Given the description of an element on the screen output the (x, y) to click on. 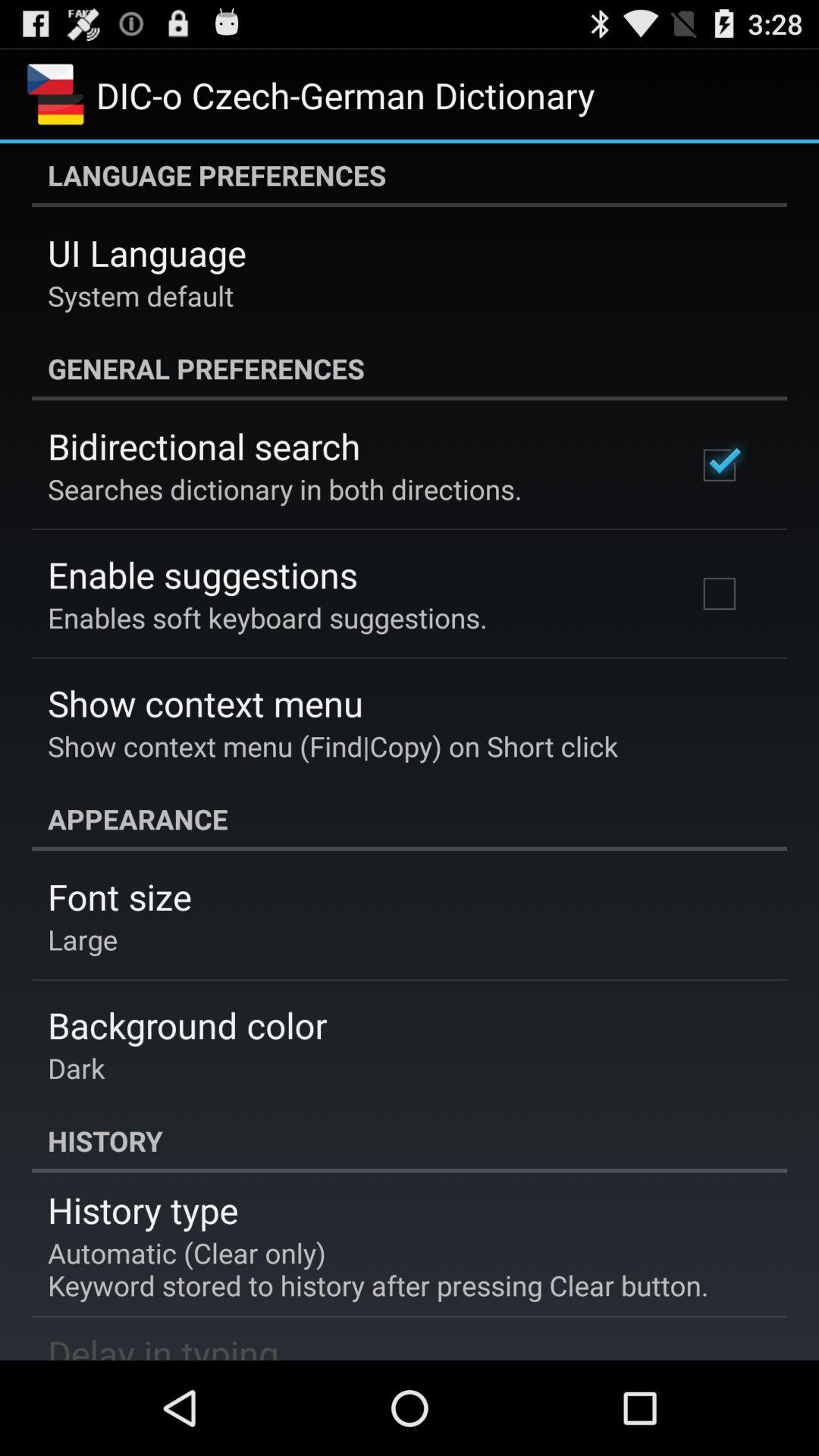
tap app above dark app (187, 1025)
